Given the description of an element on the screen output the (x, y) to click on. 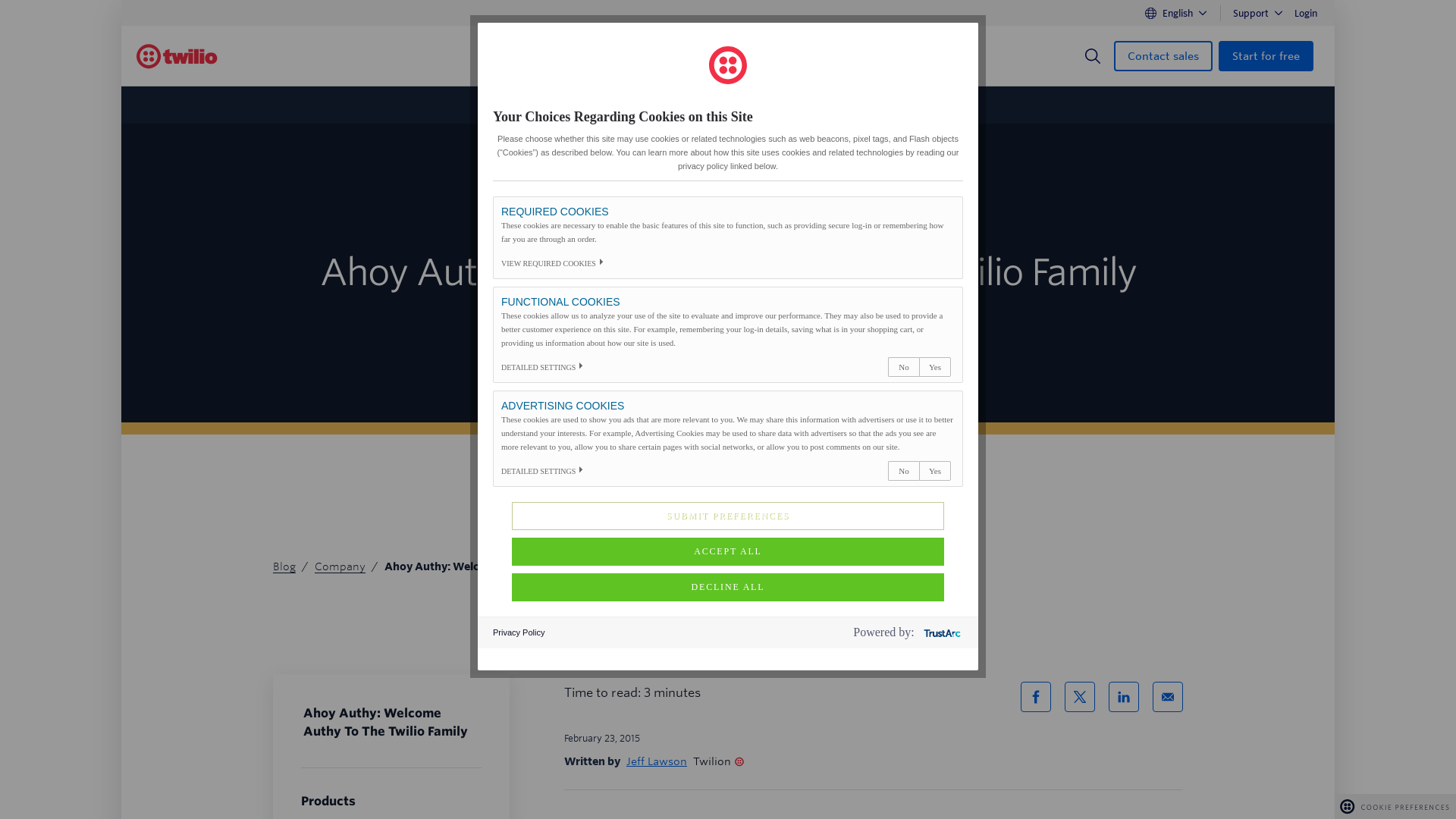
Products (558, 55)
